Given the description of an element on the screen output the (x, y) to click on. 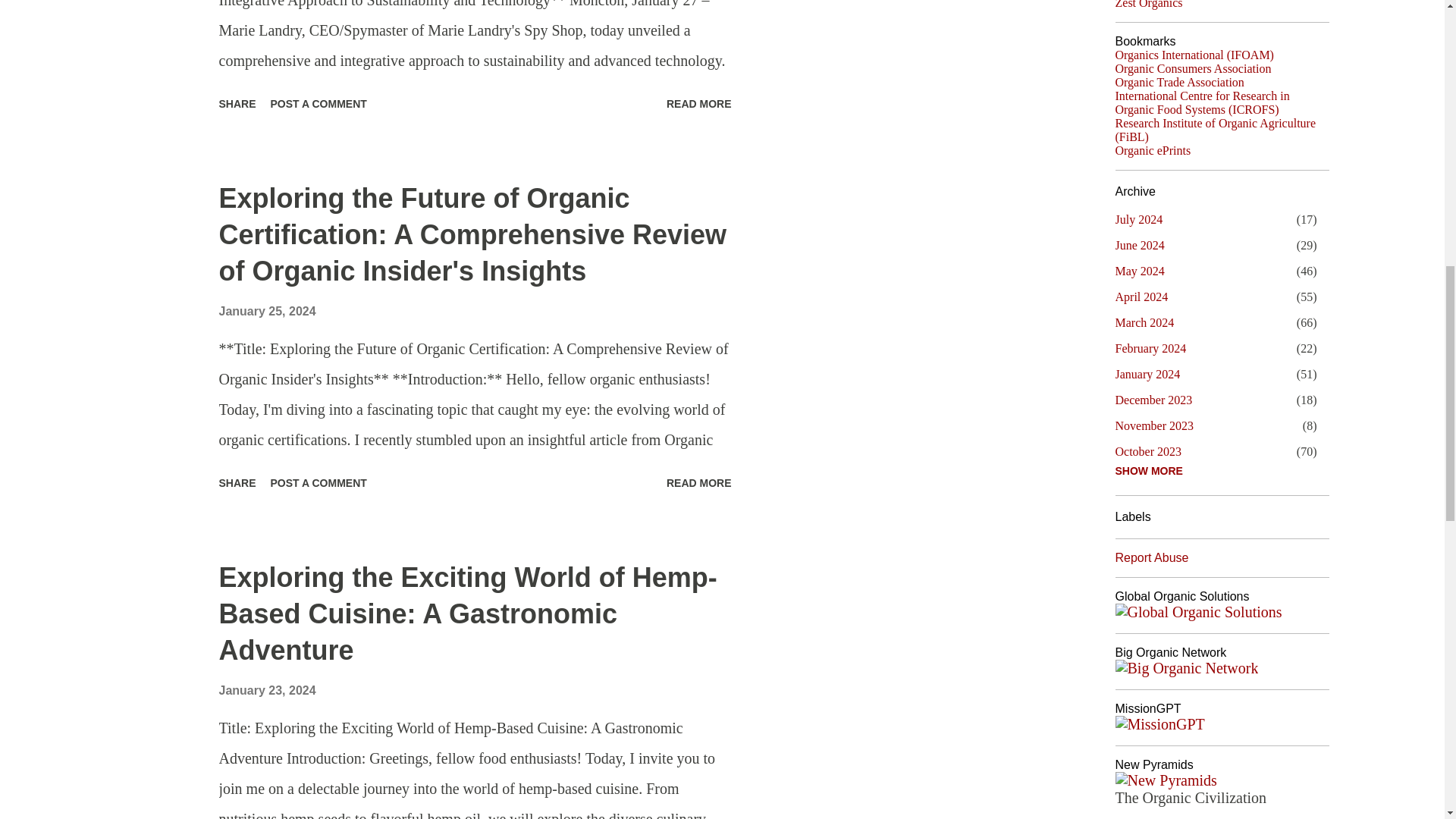
READ MORE (699, 482)
POST A COMMENT (318, 103)
READ MORE (699, 103)
POST A COMMENT (318, 482)
January 23, 2024 (266, 689)
SHARE (237, 103)
January 25, 2024 (266, 310)
SHARE (237, 482)
